Given the description of an element on the screen output the (x, y) to click on. 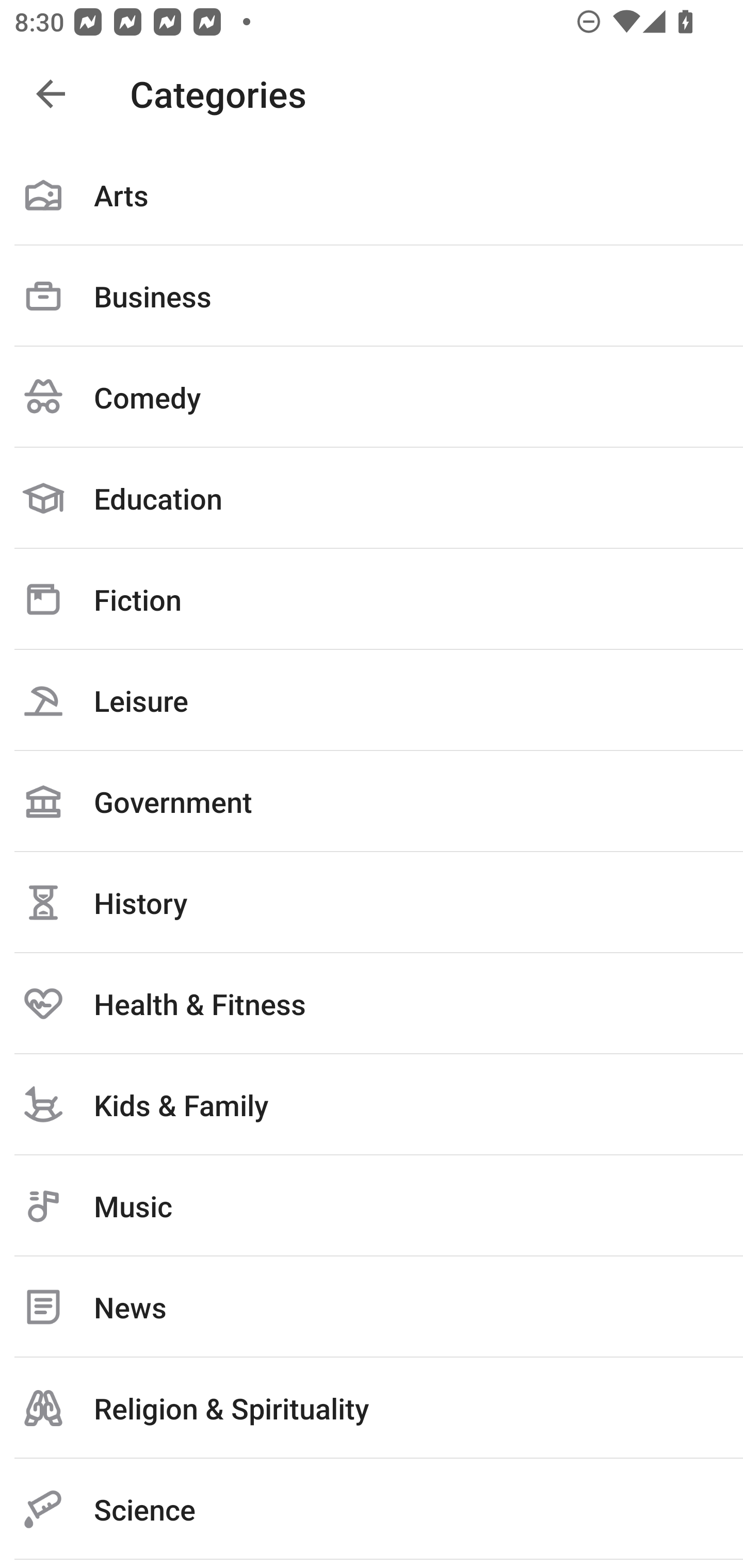
Navigate up (50, 93)
Arts (371, 195)
Business (371, 296)
Comedy (371, 397)
Education (371, 498)
Fiction (371, 598)
Leisure (371, 700)
Government (371, 801)
History (371, 902)
Health & Fitness (371, 1003)
Kids & Family (371, 1104)
Music (371, 1205)
News (371, 1306)
Religion & Spirituality (371, 1407)
Science (371, 1509)
